Given the description of an element on the screen output the (x, y) to click on. 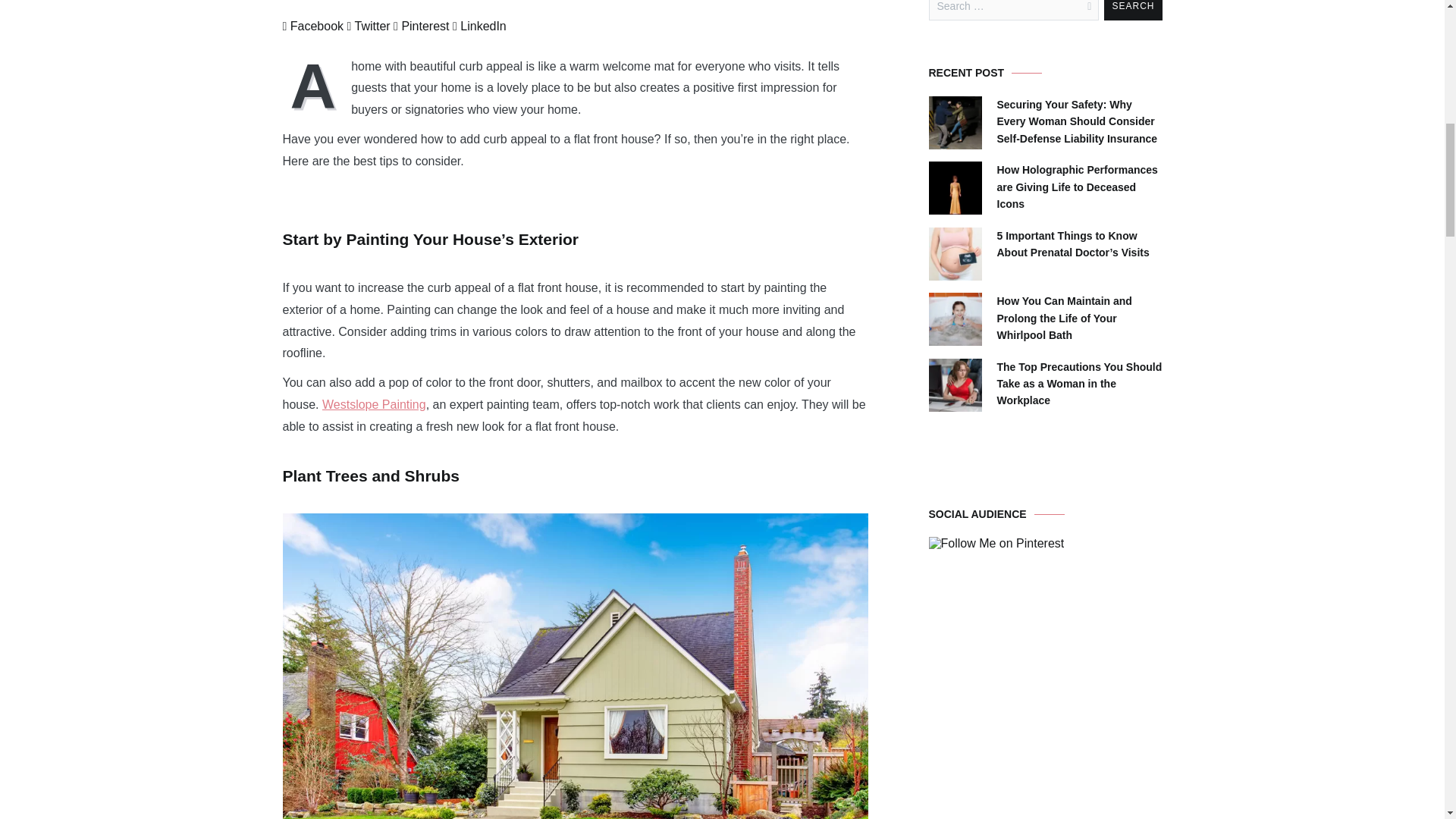
LinkedIn (479, 25)
Westslope Painting (373, 404)
A (316, 84)
Web Domain Authority Certified (1001, 705)
Pinterest (420, 25)
Twitter (368, 25)
Facebook (312, 25)
Search (1132, 10)
Search (1132, 10)
